Given the description of an element on the screen output the (x, y) to click on. 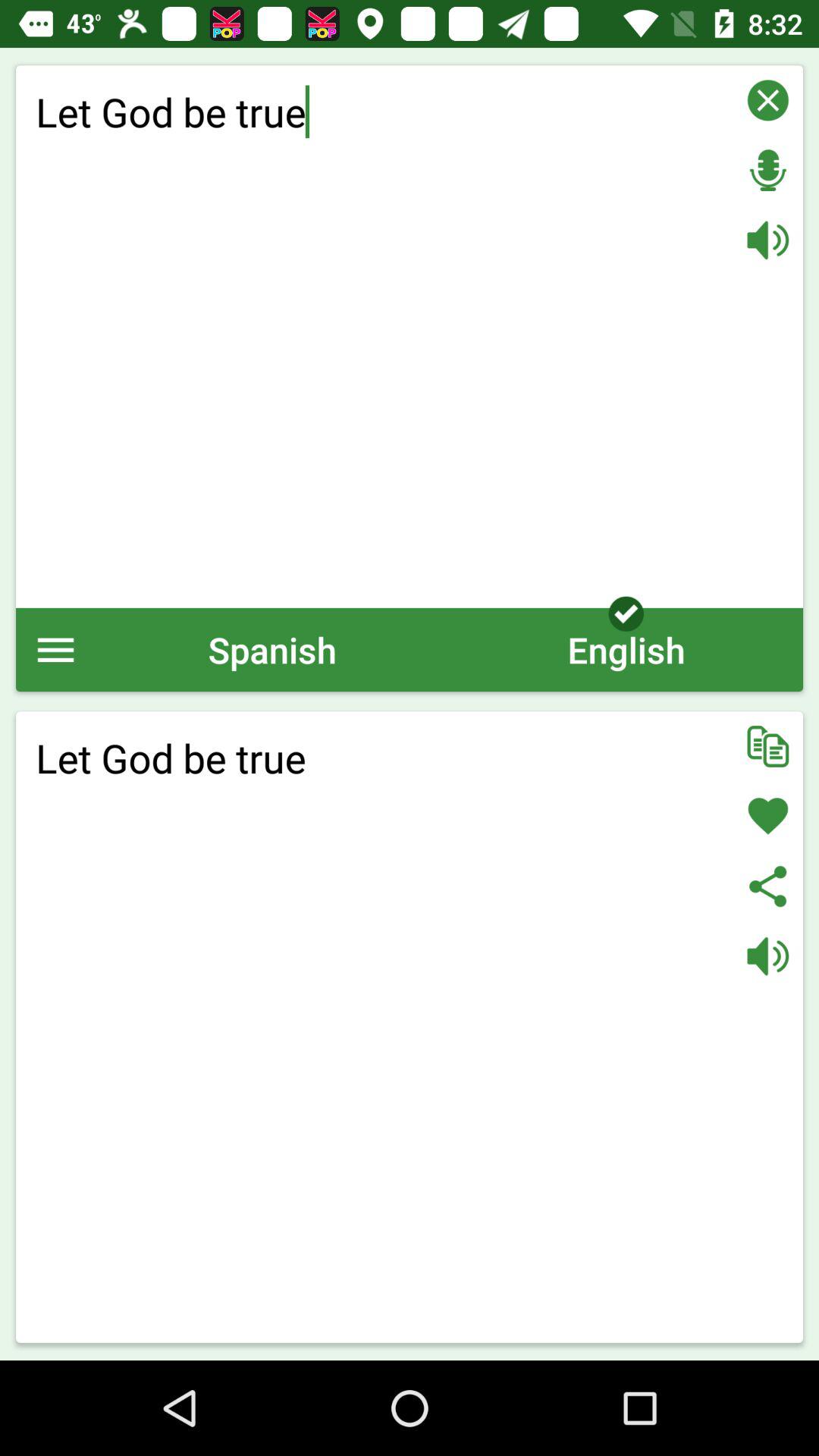
turn off icon below let god be icon (272, 649)
